Given the description of an element on the screen output the (x, y) to click on. 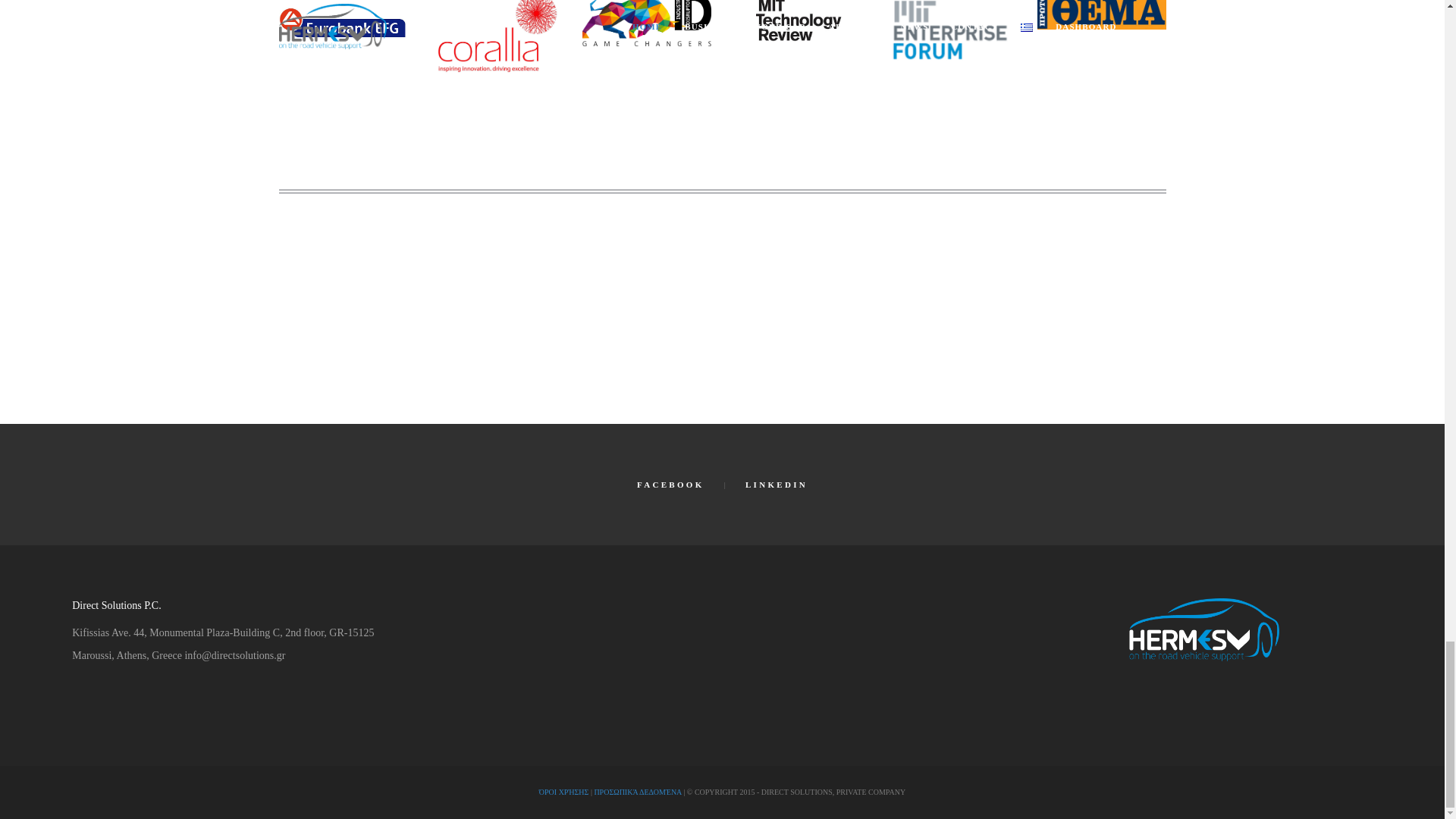
FACEBOOK (670, 483)
LINKEDIN (776, 483)
